Given the description of an element on the screen output the (x, y) to click on. 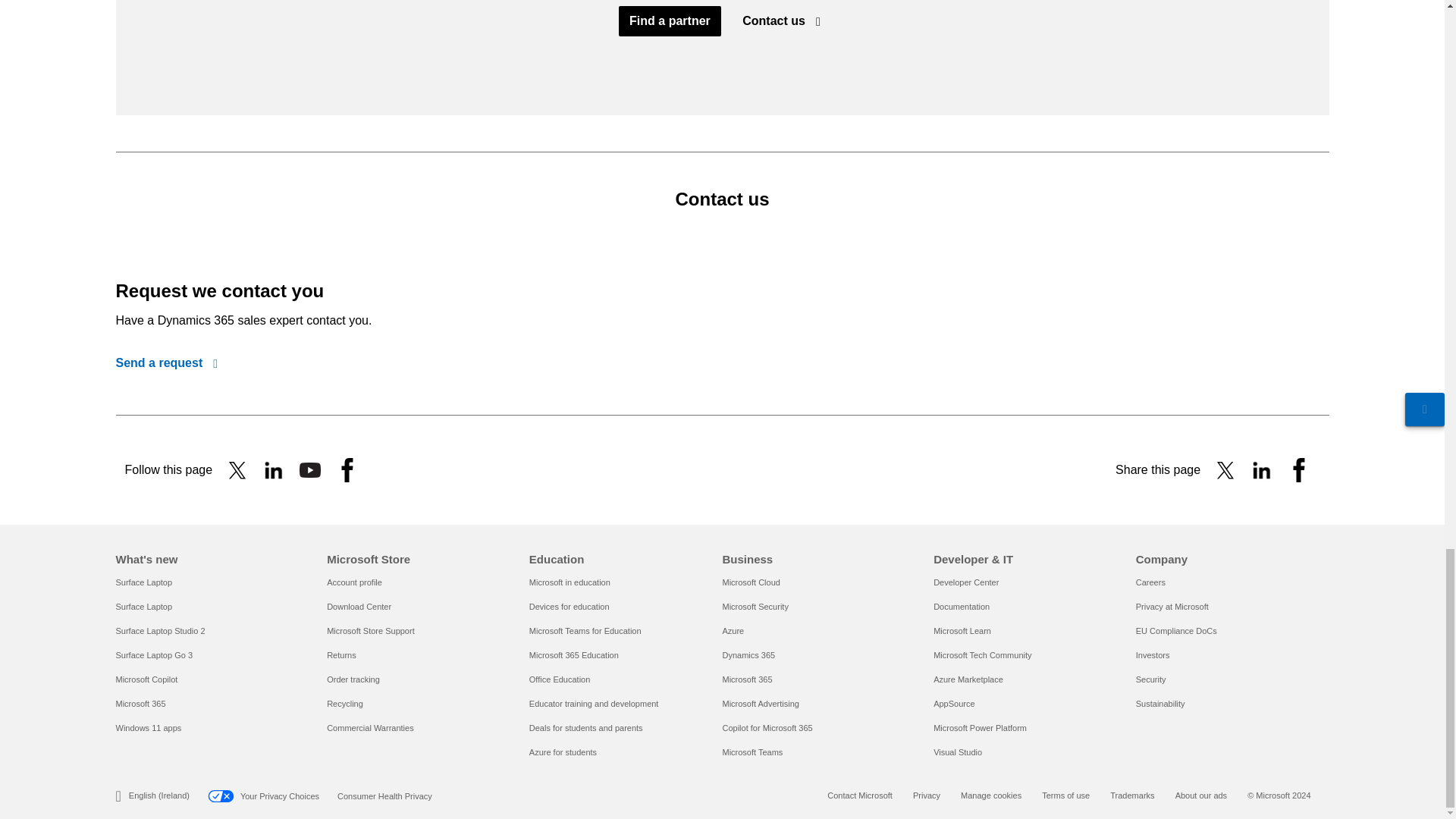
Twitter (236, 469)
Twitter (1224, 469)
LinkedIn (273, 469)
Facebook (346, 469)
Facebook (1297, 469)
Youtube (309, 469)
LinkedIn (1261, 469)
